Given the description of an element on the screen output the (x, y) to click on. 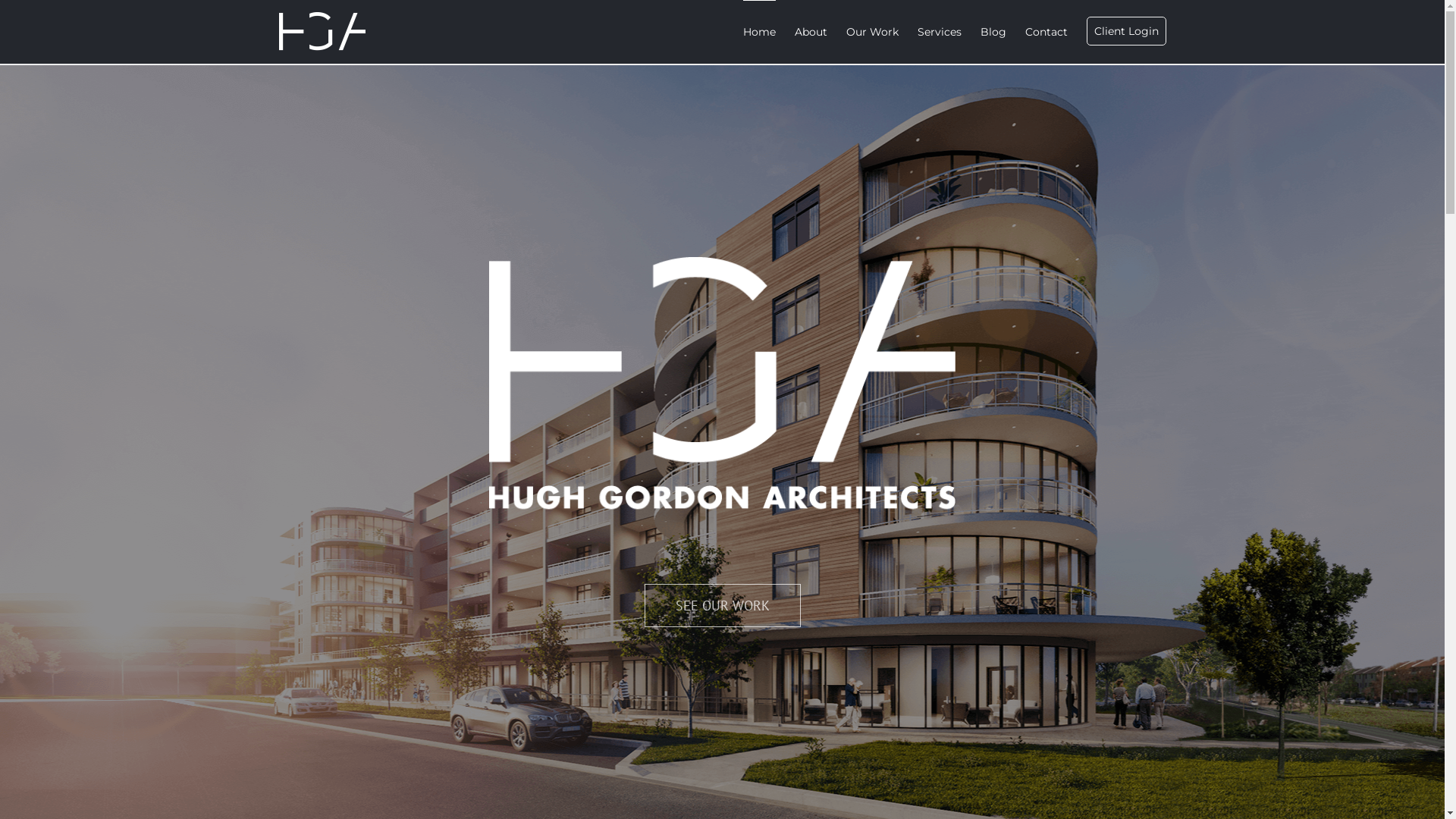
Blog Element type: text (992, 31)
SEE OUR WORK Element type: text (722, 605)
Home Element type: text (759, 31)
Contact Element type: text (1046, 31)
Services Element type: text (939, 31)
Client Login Element type: text (1125, 31)
Our Work Element type: text (872, 31)
About Element type: text (810, 31)
